Given the description of an element on the screen output the (x, y) to click on. 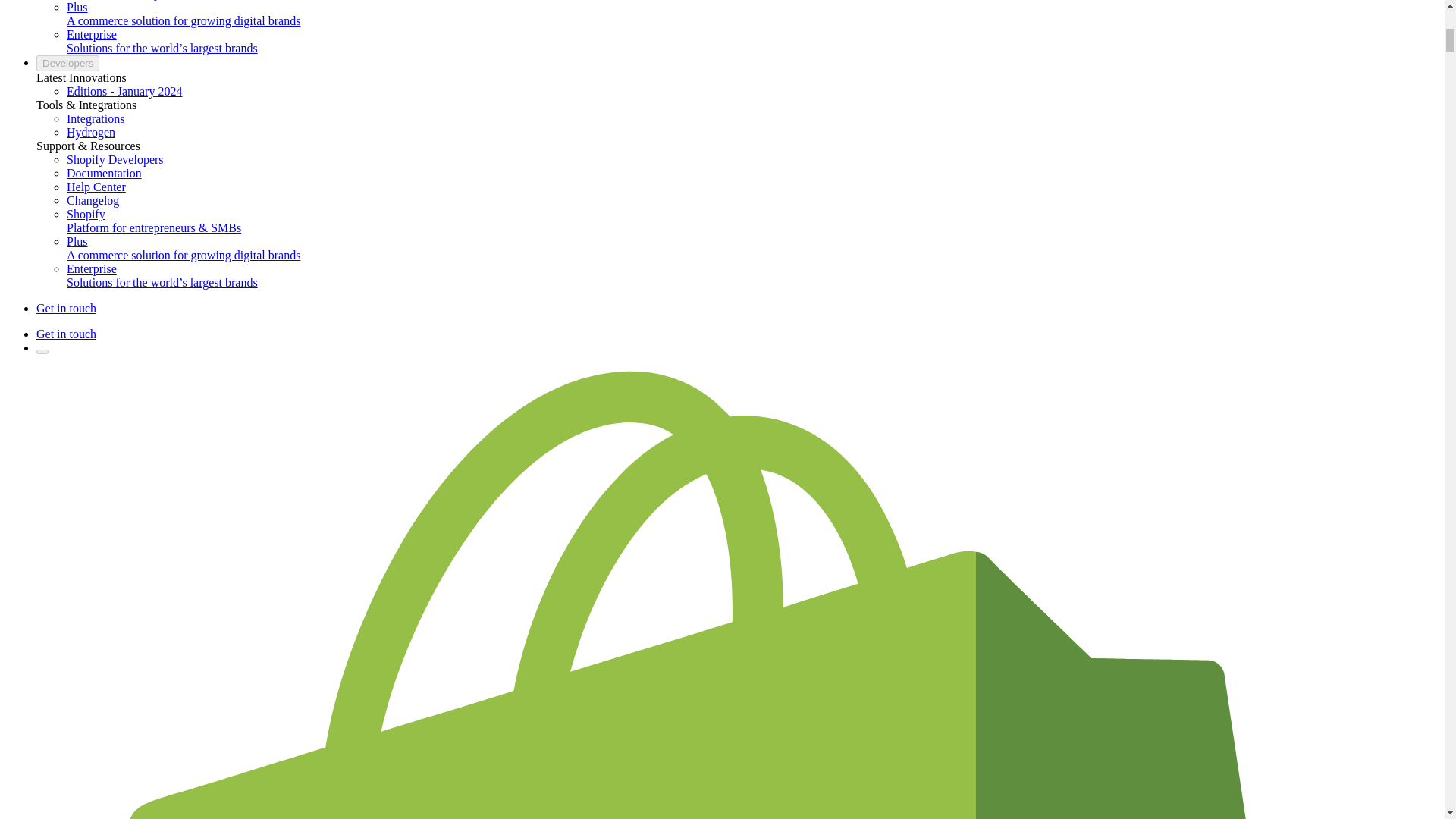
Developers (67, 63)
